Given the description of an element on the screen output the (x, y) to click on. 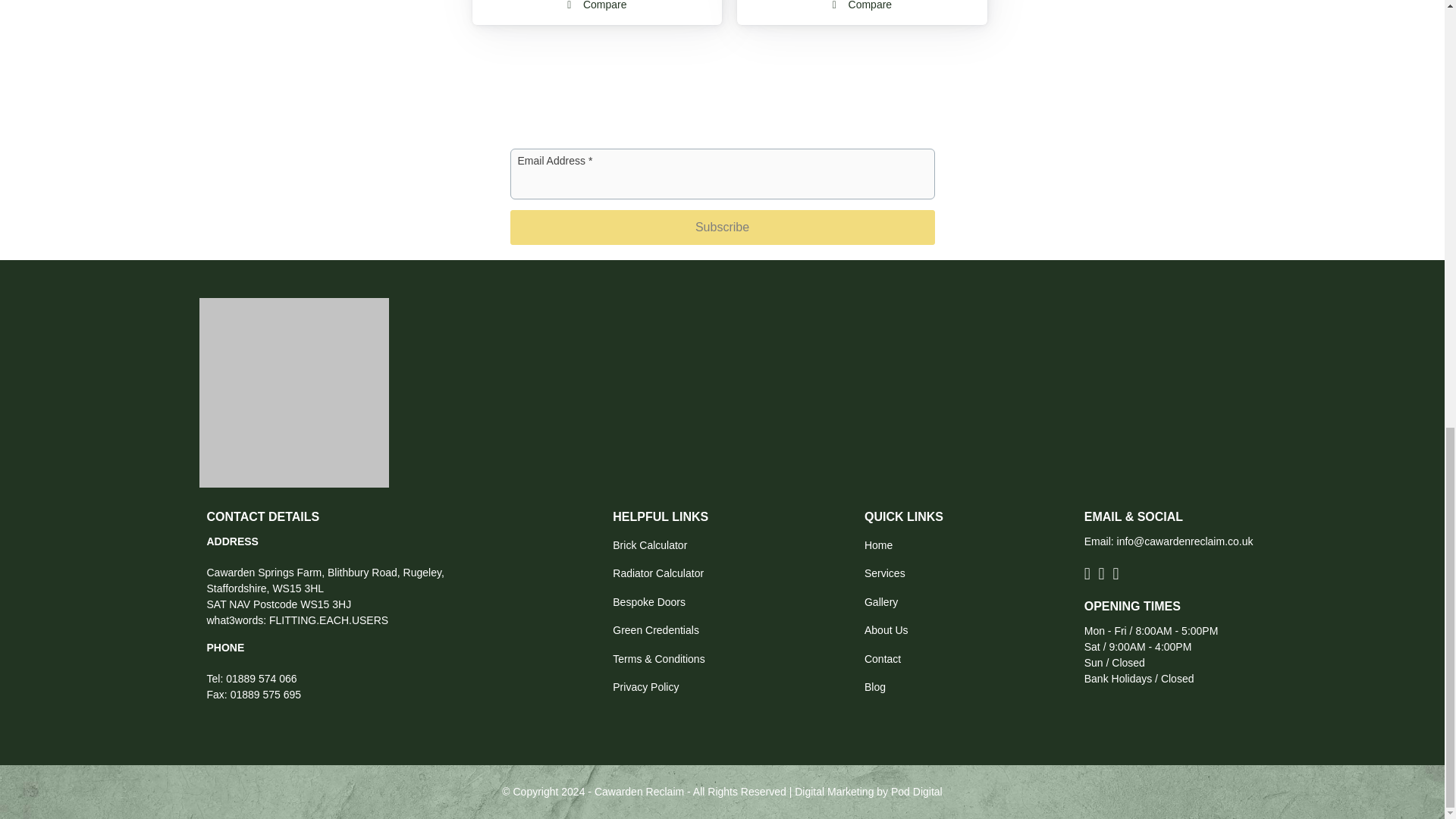
More information on Pod Digital (916, 791)
Call Us Today (265, 694)
Contact Us Today (1184, 541)
Call Us Today (261, 678)
Subscribe (721, 226)
